Given the description of an element on the screen output the (x, y) to click on. 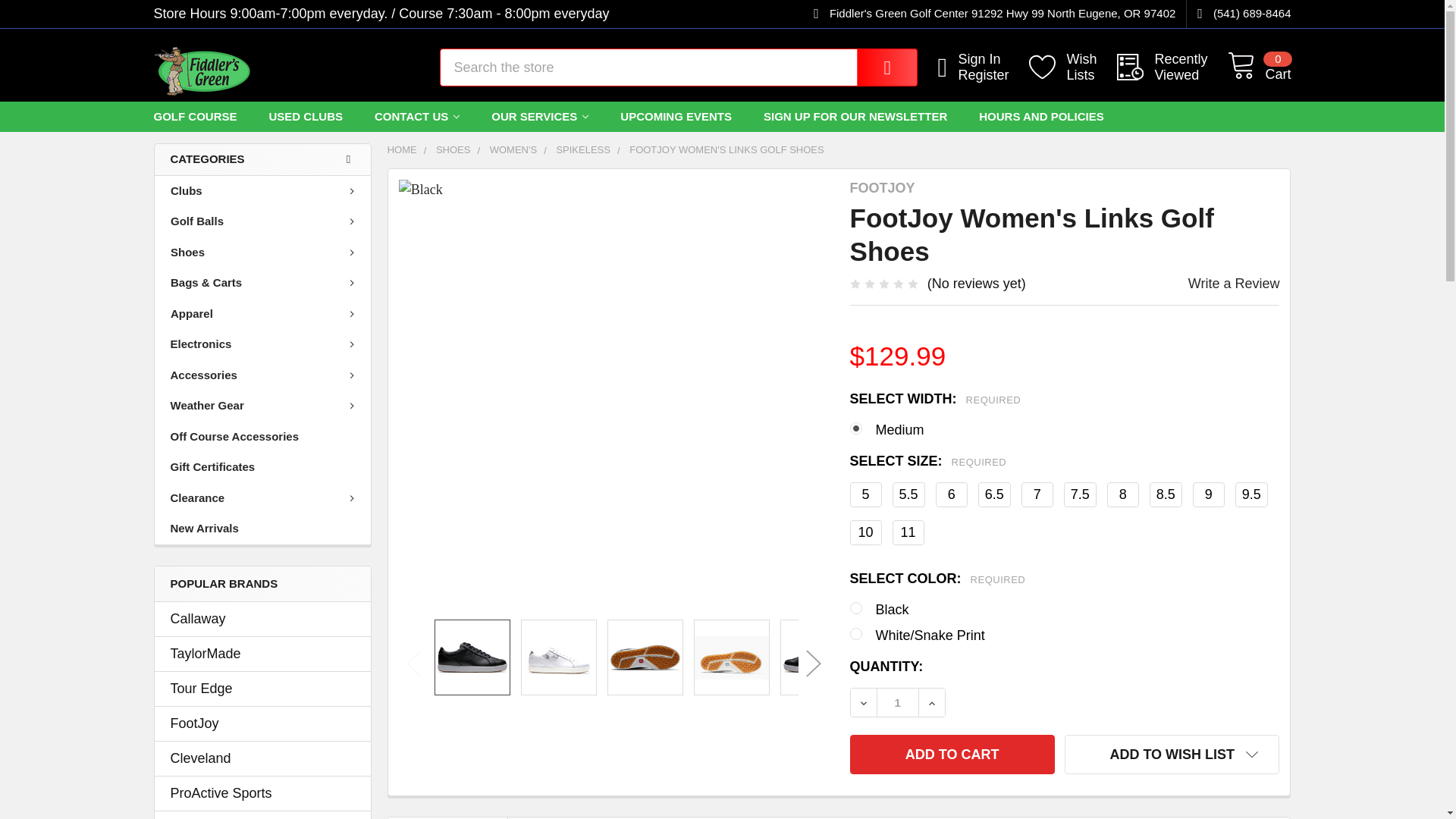
Search (874, 67)
Callaway (262, 619)
Cart (1258, 67)
Wish Lists (1072, 66)
1546 (1171, 66)
1547 (262, 688)
